Given the description of an element on the screen output the (x, y) to click on. 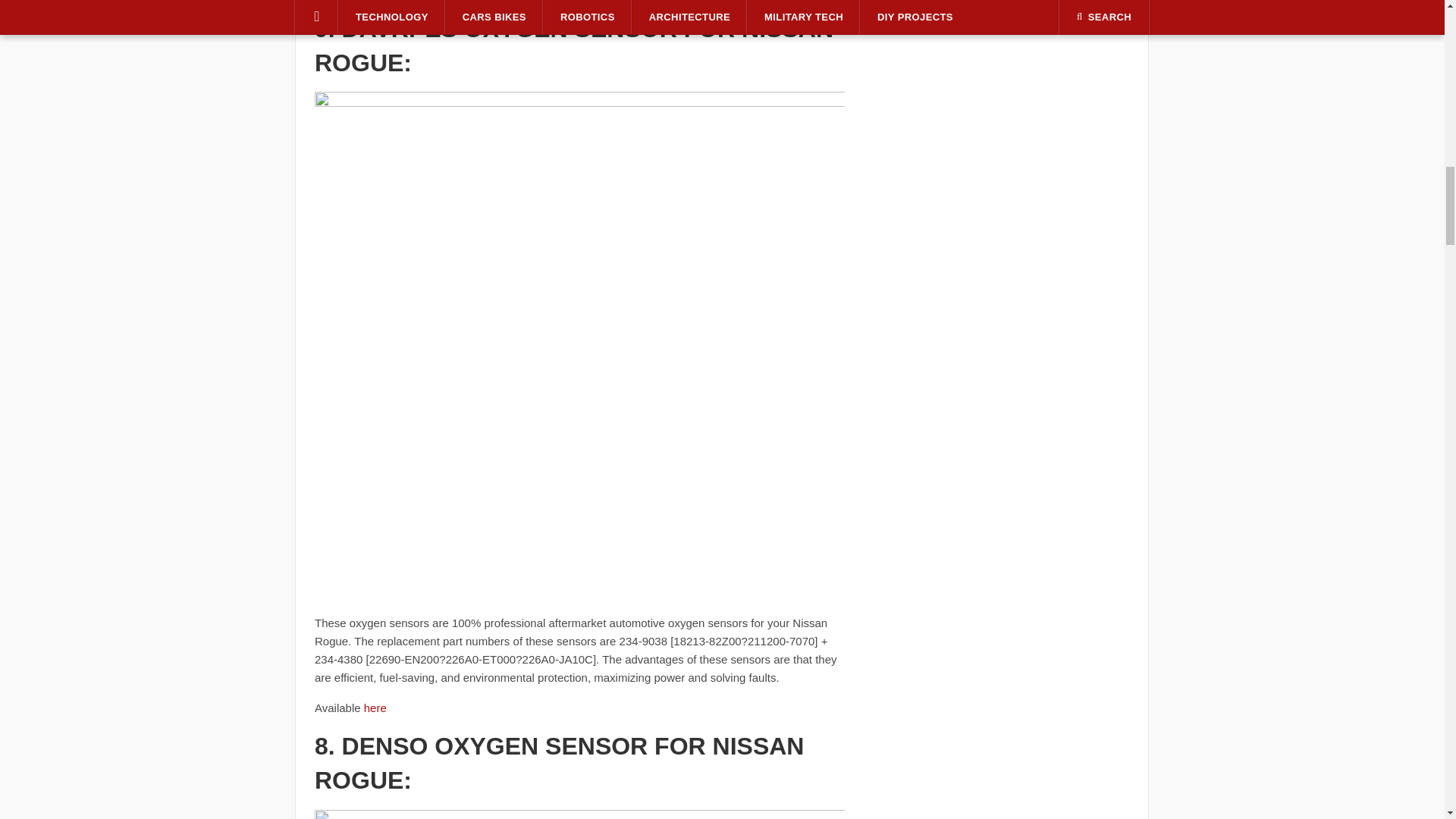
here (375, 707)
